Given the description of an element on the screen output the (x, y) to click on. 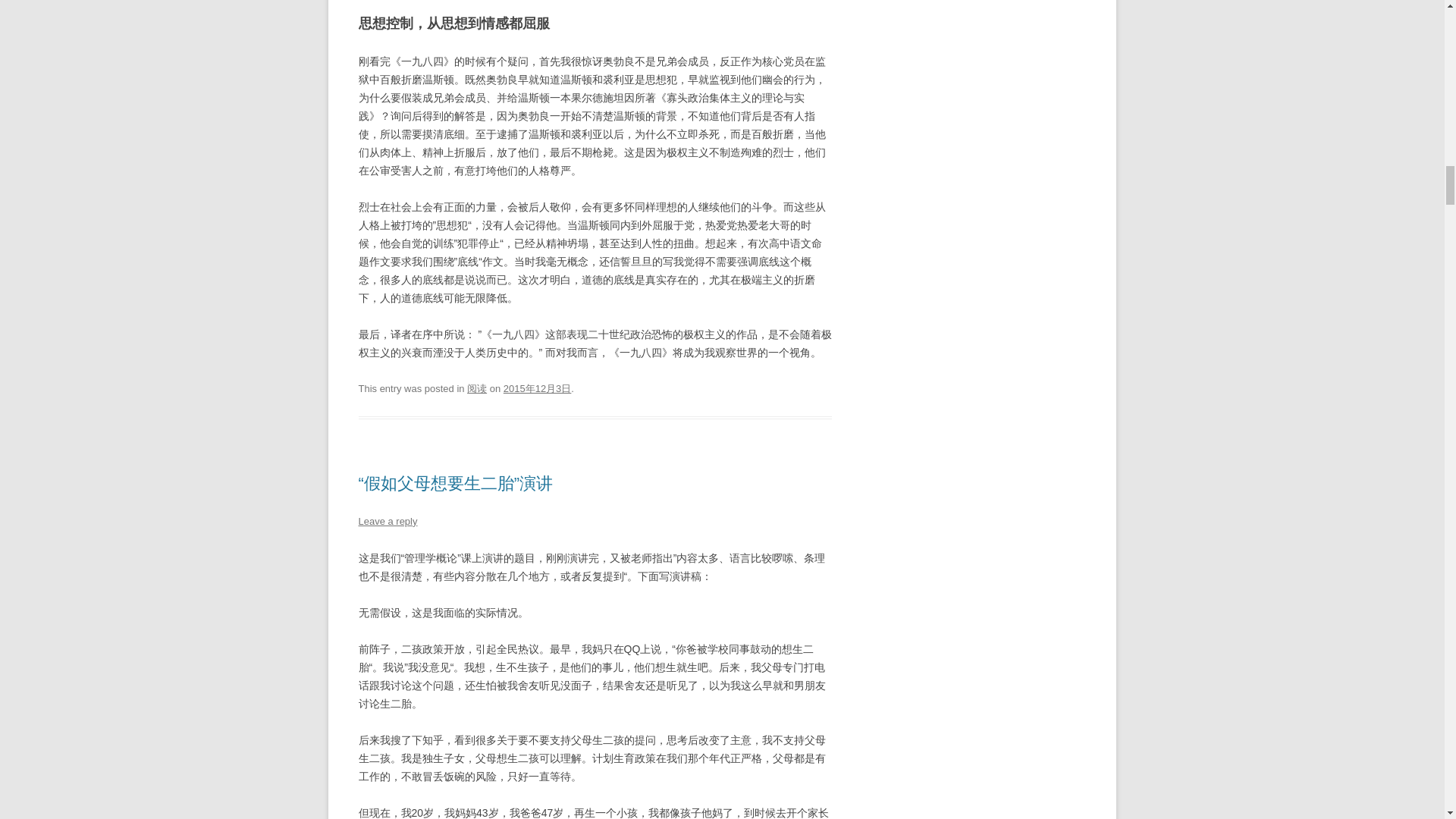
Leave a reply (387, 521)
am12:09 (537, 388)
